Given the description of an element on the screen output the (x, y) to click on. 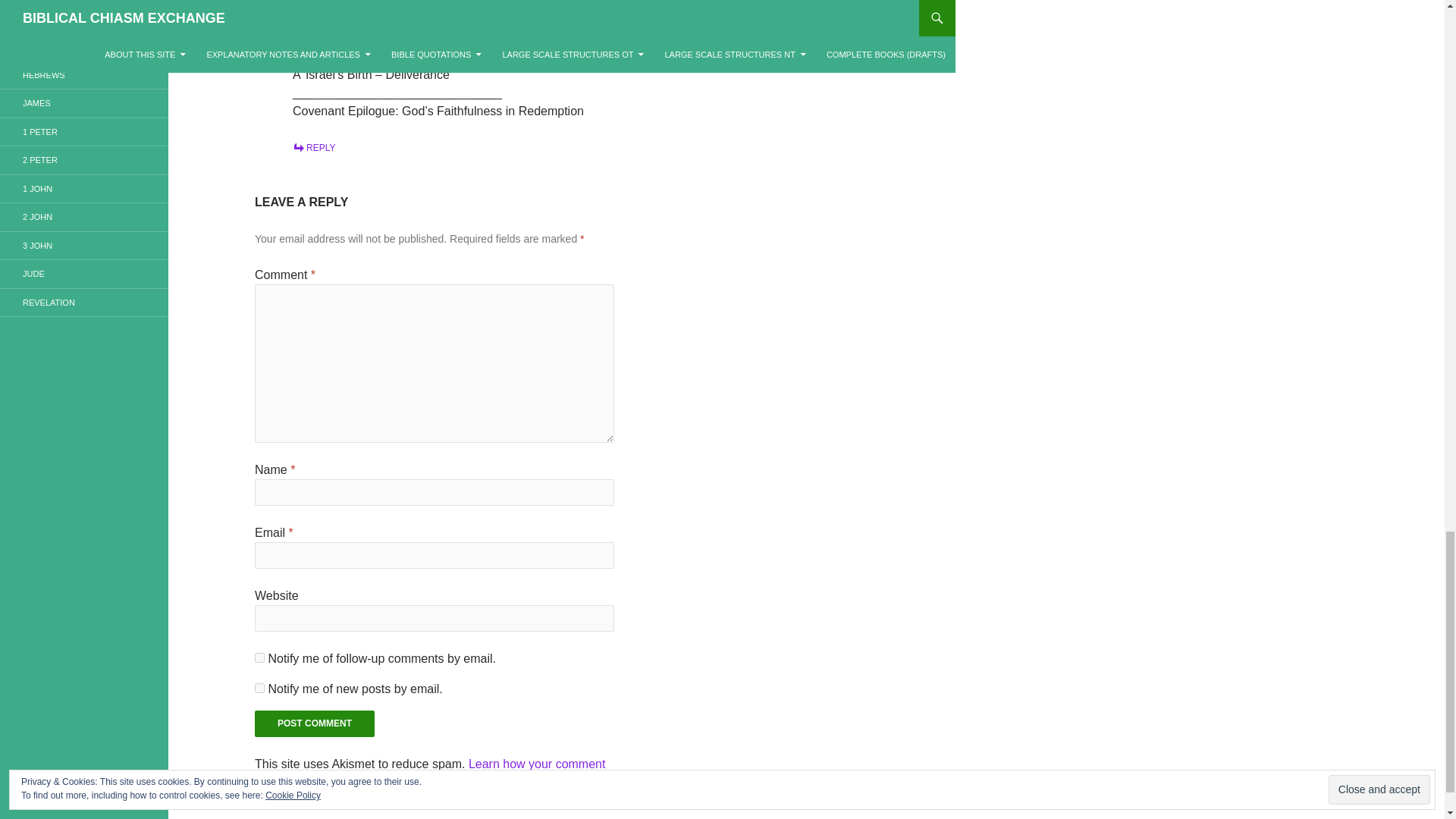
subscribe (259, 687)
Post Comment (314, 723)
subscribe (259, 657)
